Given the description of an element on the screen output the (x, y) to click on. 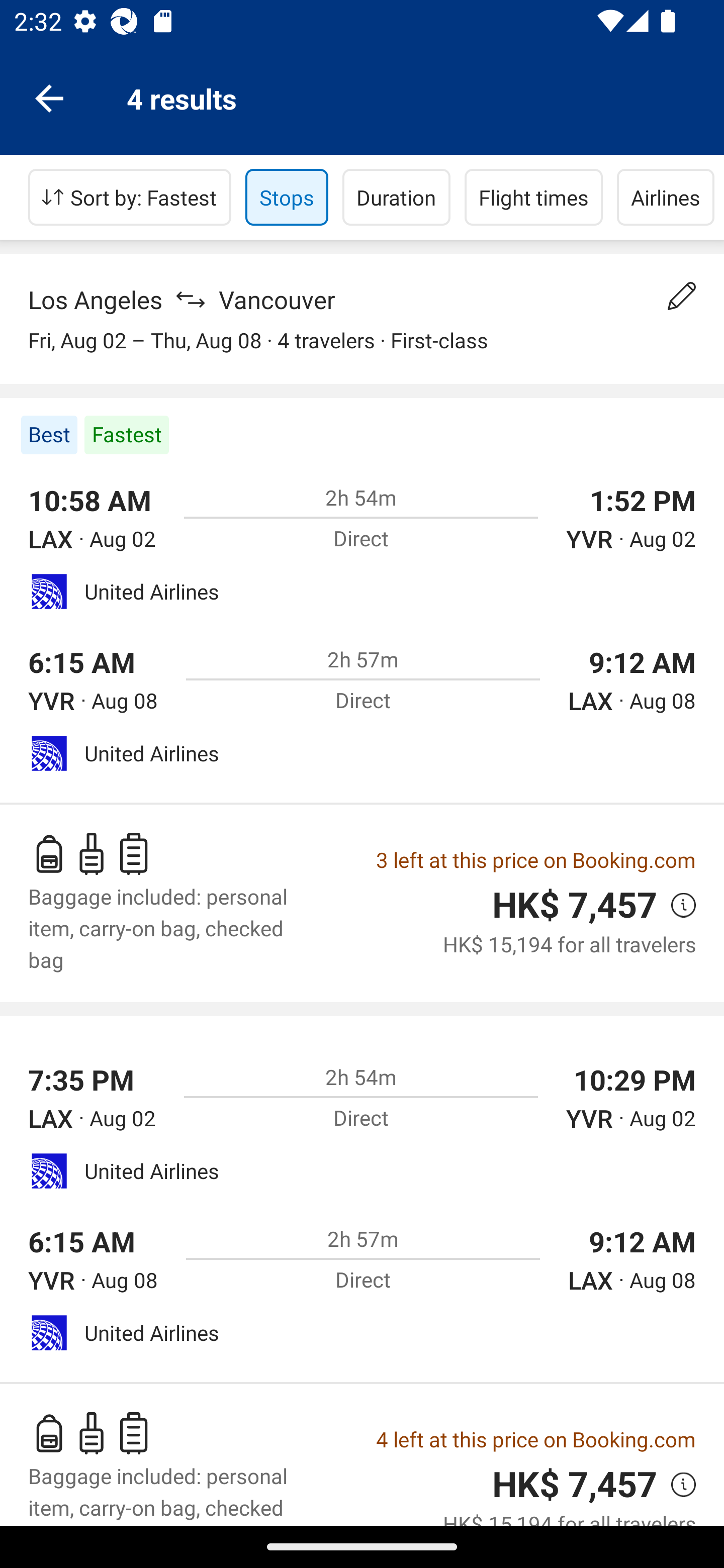
Navigate up (49, 97)
Sort by: Fastest (129, 197)
Stops (286, 197)
Duration (396, 197)
Flight times (533, 197)
Airlines (665, 197)
Change your search details (681, 296)
HK$ 7,457 (574, 905)
view price details, opens a pop-up (676, 905)
HK$ 7,457 (574, 1483)
view price details, opens a pop-up (676, 1483)
